Given the description of an element on the screen output the (x, y) to click on. 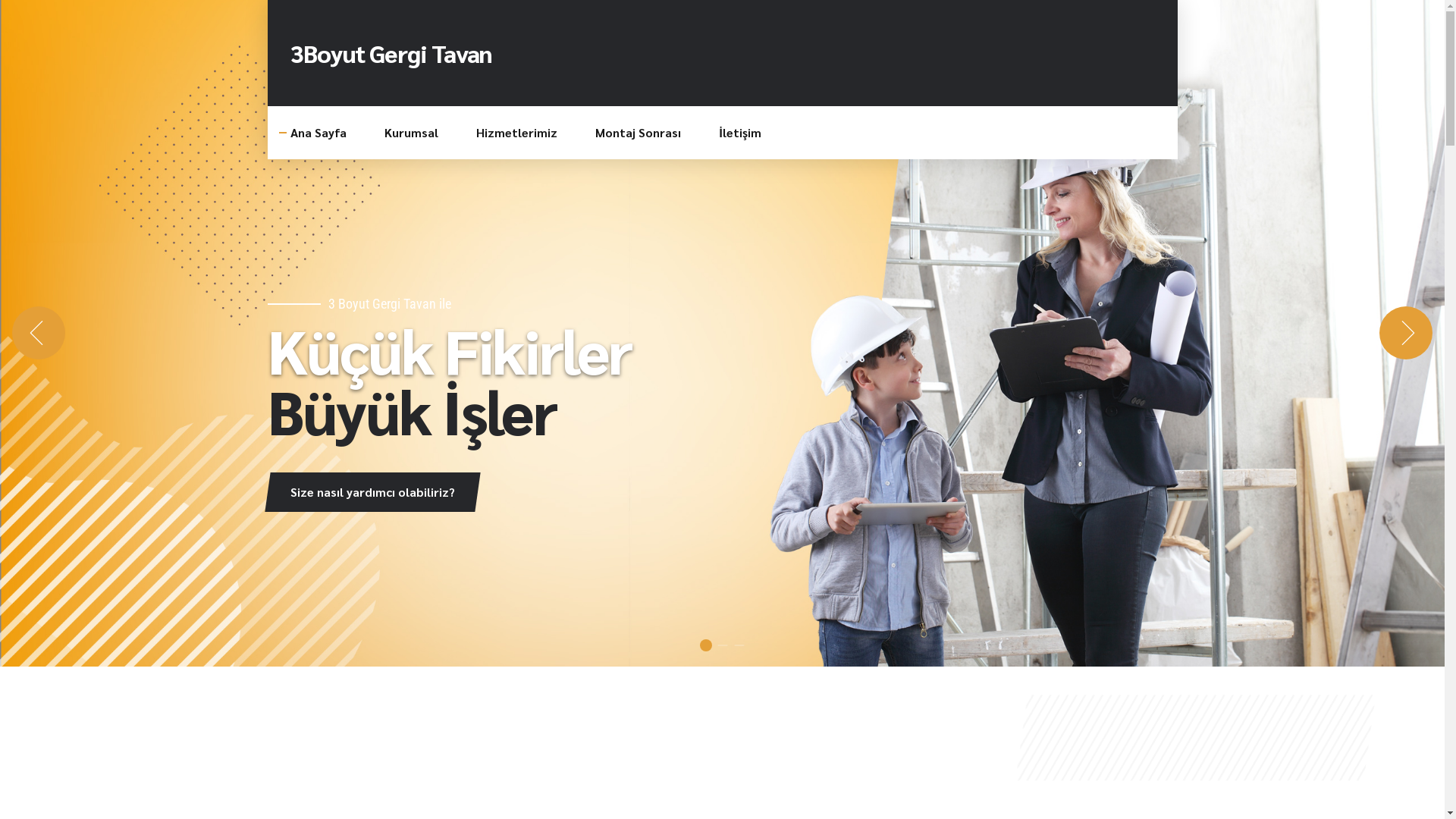
Hizmetlerimiz Element type: text (516, 132)
Kurumsal Element type: text (410, 132)
Ana Sayfa Element type: text (317, 132)
3Boyut Gergi Tavan Element type: text (390, 52)
